Given the description of an element on the screen output the (x, y) to click on. 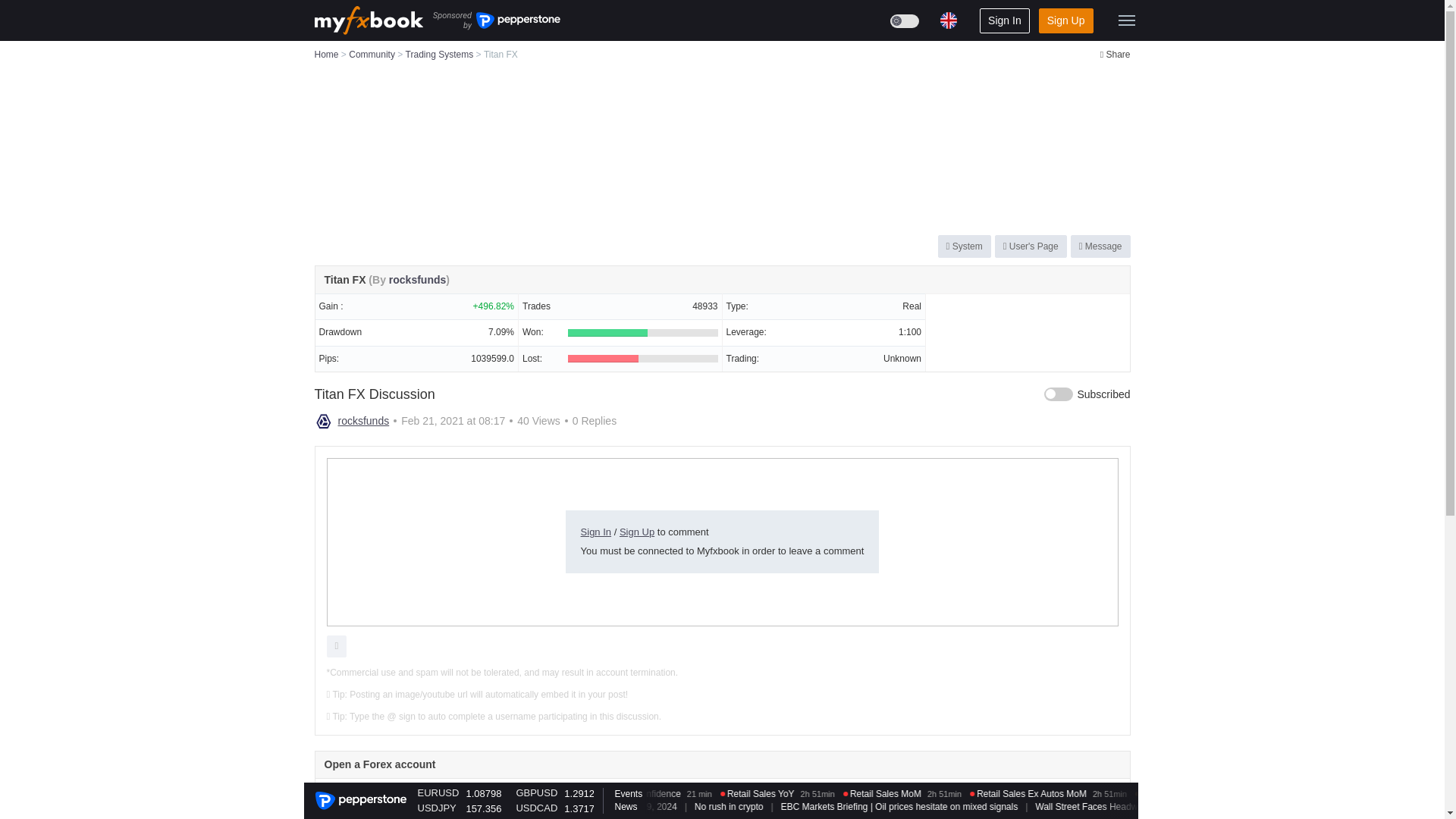
Sign Up (1066, 19)
Sign In (1004, 19)
rocksfunds (323, 420)
